Given the description of an element on the screen output the (x, y) to click on. 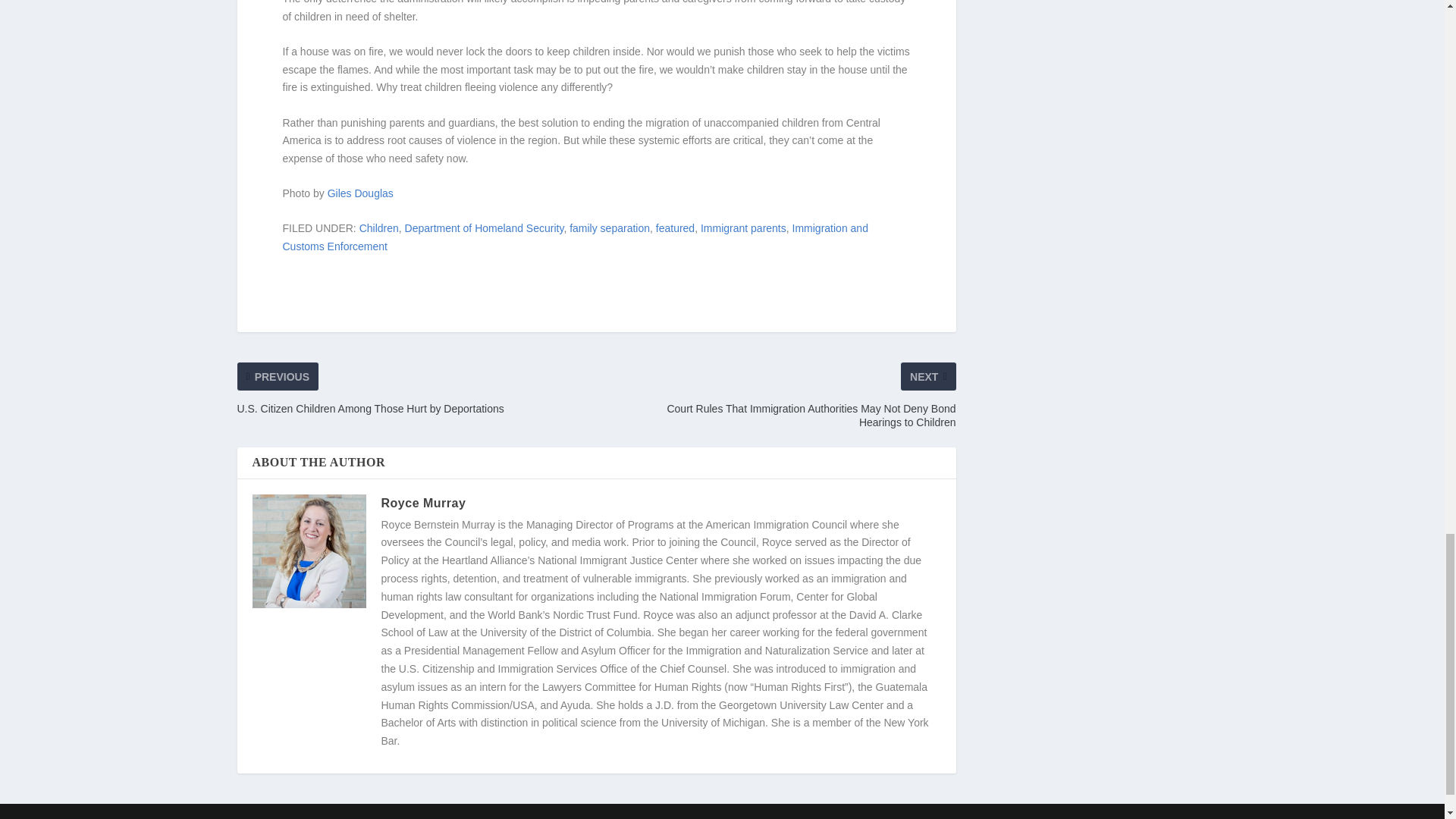
Giles Douglas (360, 193)
View all posts by Royce Murray (422, 502)
Department of Homeland Security (484, 227)
Children (378, 227)
